Given the description of an element on the screen output the (x, y) to click on. 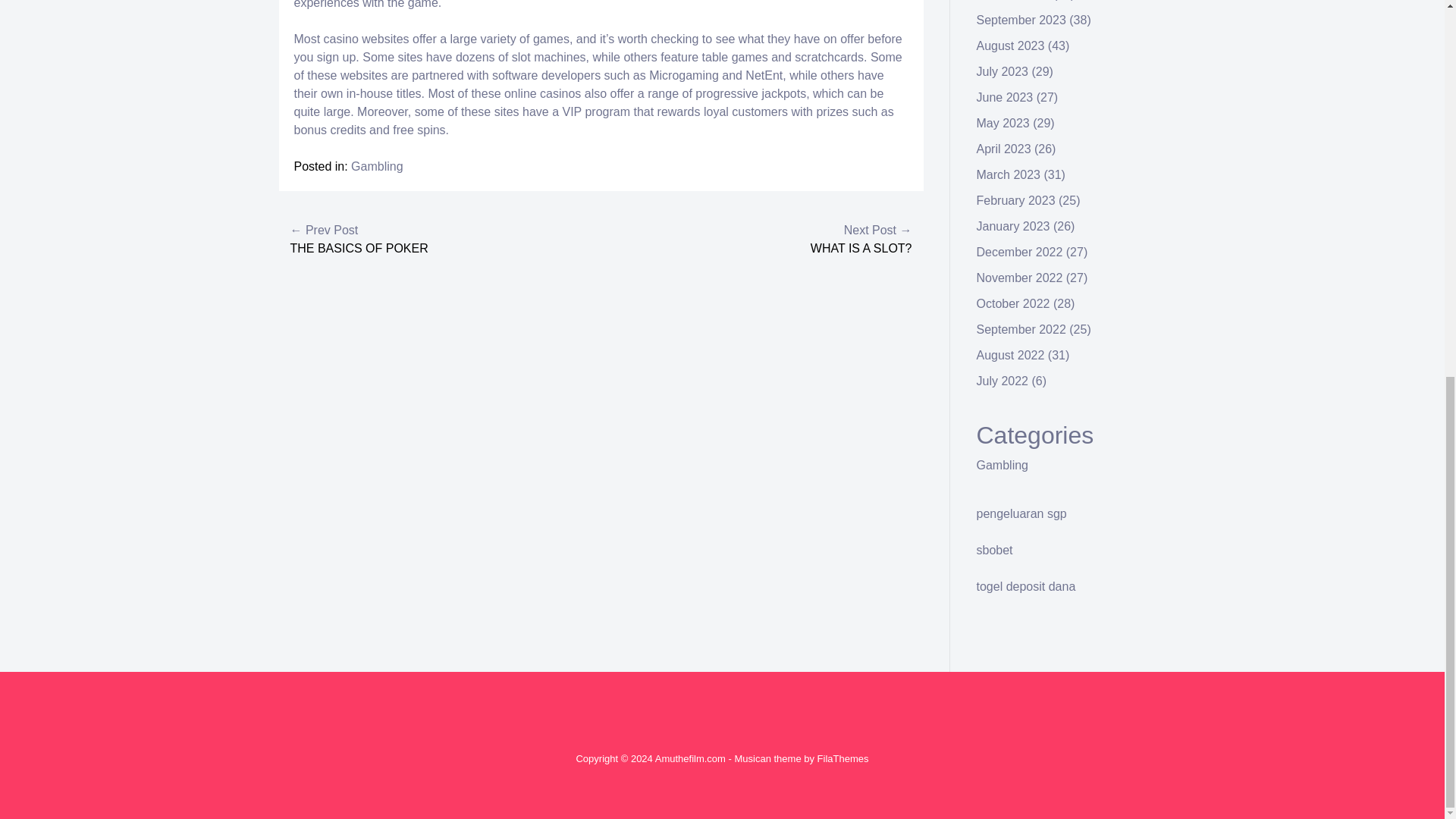
June 2023 (1004, 97)
September 2023 (1020, 19)
July 2022 (1002, 380)
October 2023 (1012, 0)
August 2023 (1010, 45)
September 2022 (1020, 328)
August 2022 (1010, 354)
December 2022 (1019, 251)
October 2022 (1012, 303)
March 2023 (1008, 174)
